Given the description of an element on the screen output the (x, y) to click on. 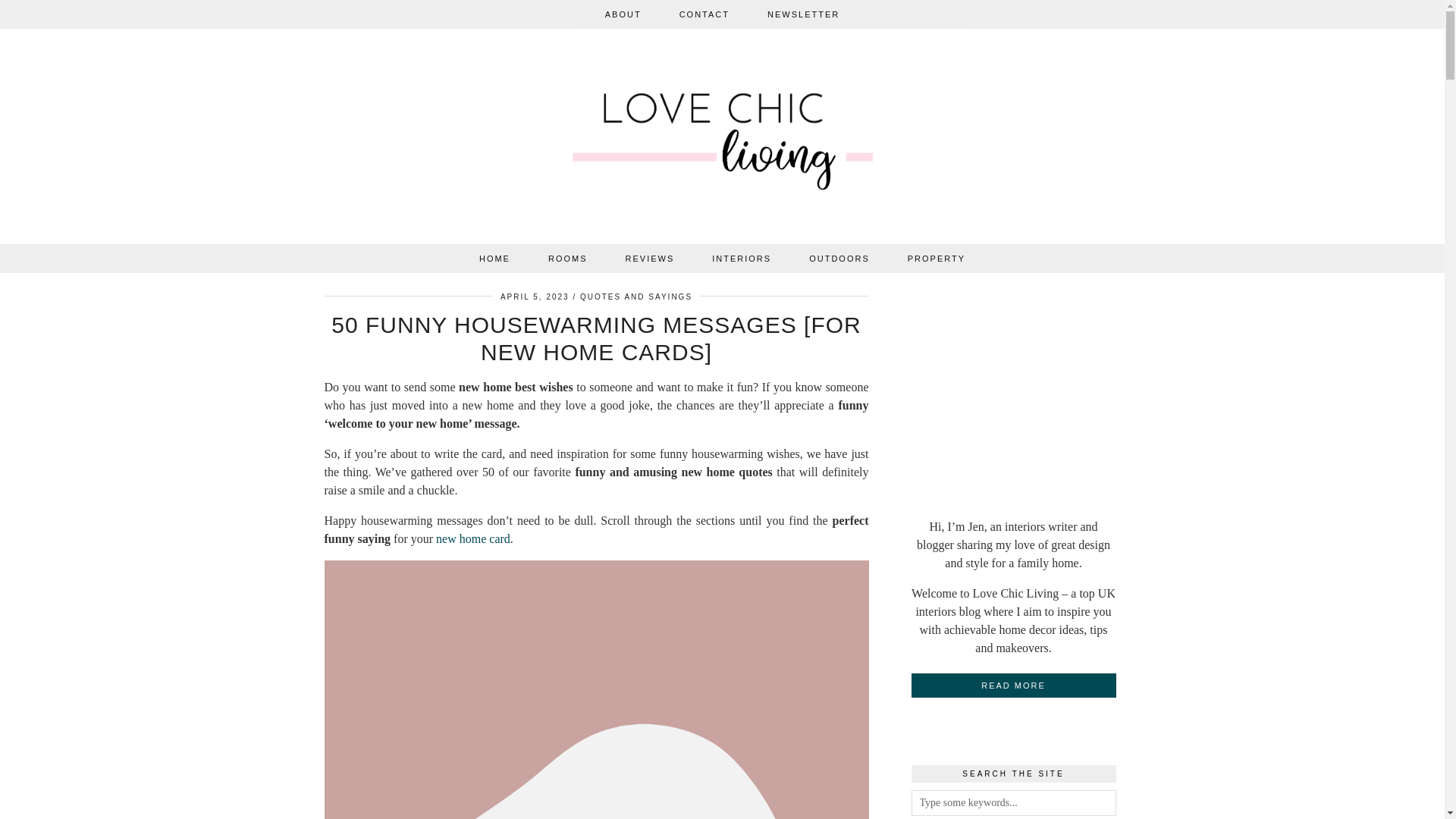
NEWSLETTER (803, 14)
INTERIORS (741, 258)
Love Chic Living (722, 139)
HOME (494, 258)
ROOMS (568, 258)
CONTACT (704, 14)
REVIEWS (650, 258)
ABOUT (623, 14)
